Given the description of an element on the screen output the (x, y) to click on. 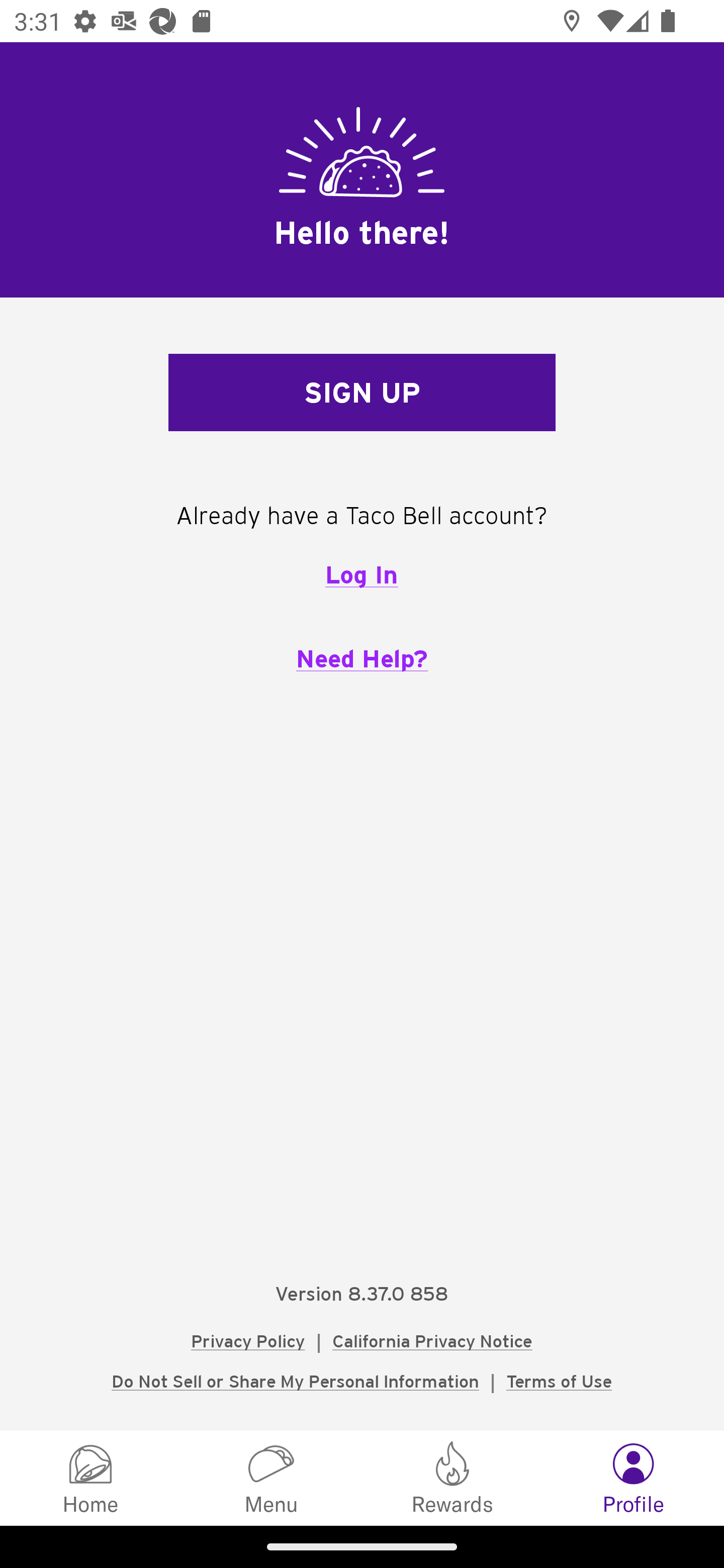
SIGN UP (361, 392)
Log In (361, 574)
Need Help? (361, 658)
Privacy Policy (248, 1341)
California Privacy Notice (432, 1341)
Do Not Sell or Share My Personal Information (295, 1381)
Terms of Use (558, 1381)
Home (90, 1476)
Menu (271, 1476)
Rewards (452, 1476)
My Info Profile (633, 1476)
